Given the description of an element on the screen output the (x, y) to click on. 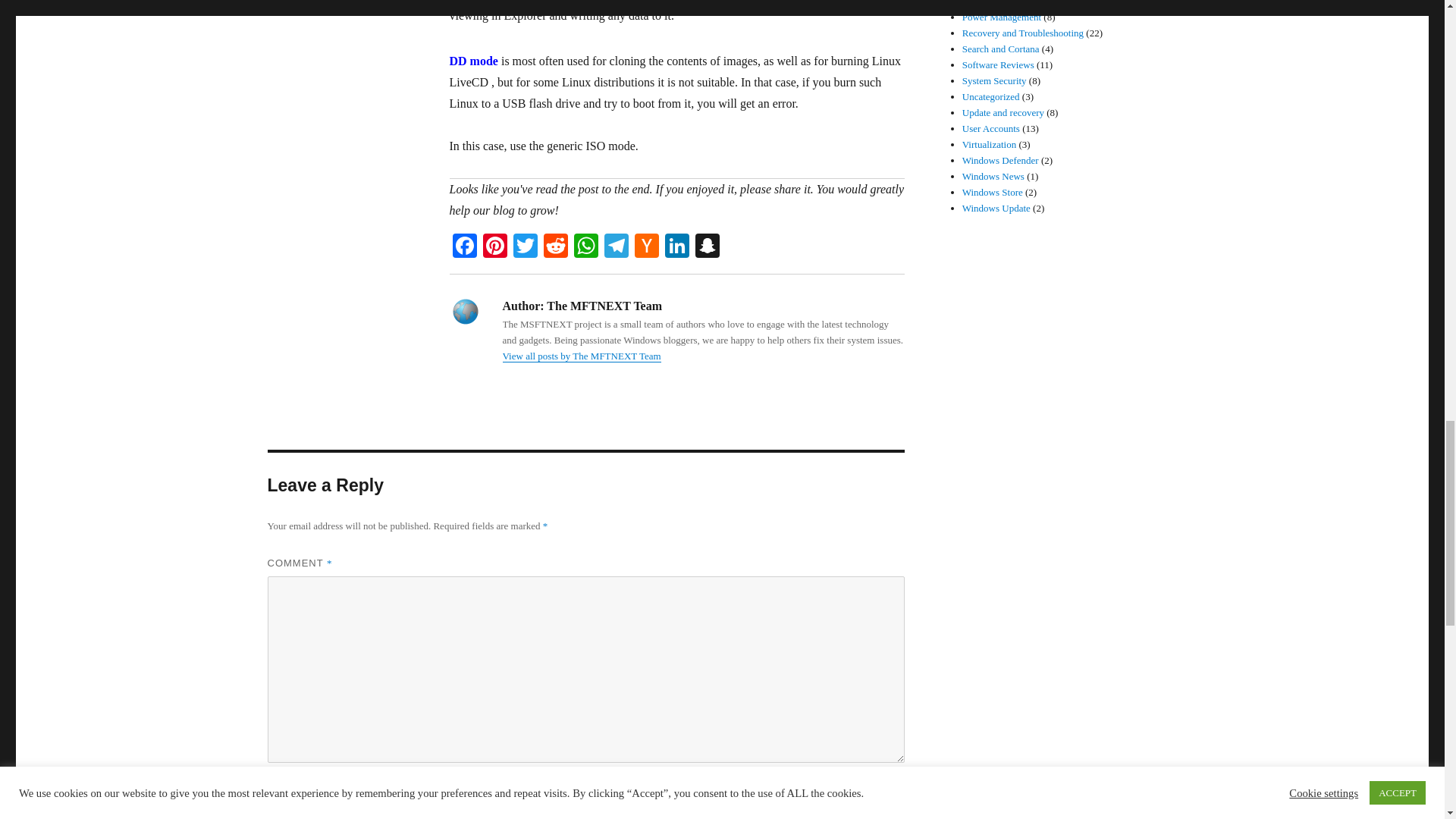
Pinterest (494, 247)
Telegram (614, 247)
Hacker News (645, 247)
View all posts by The MFTNEXT Team (581, 355)
WhatsApp (584, 247)
Twitter (524, 247)
WhatsApp (584, 247)
LinkedIn (676, 247)
Telegram (614, 247)
Reddit (555, 247)
Snapchat (706, 247)
LinkedIn (676, 247)
Facebook (463, 247)
Pinterest (494, 247)
Snapchat (706, 247)
